Given the description of an element on the screen output the (x, y) to click on. 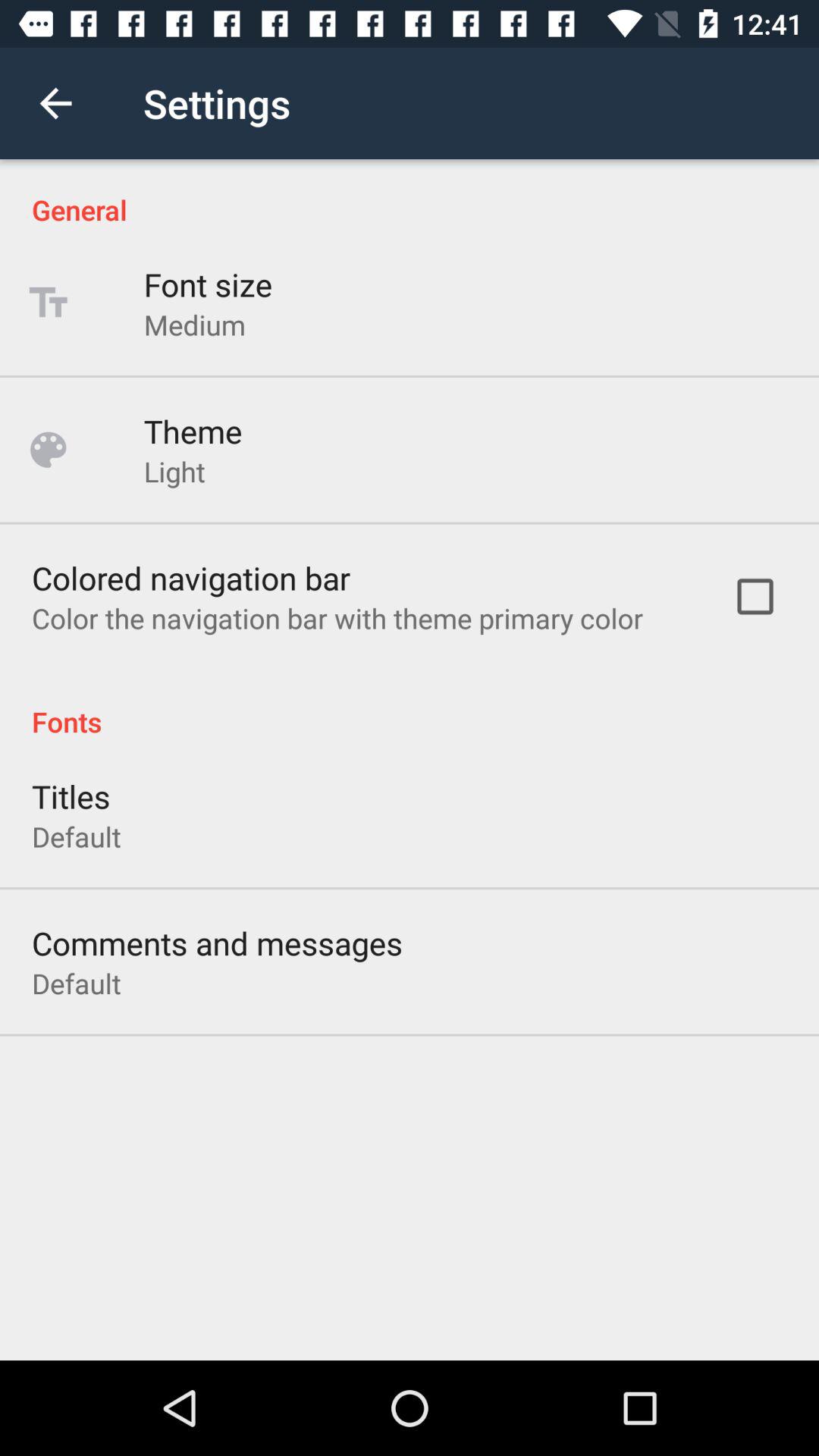
turn on the icon below font size item (194, 324)
